Given the description of an element on the screen output the (x, y) to click on. 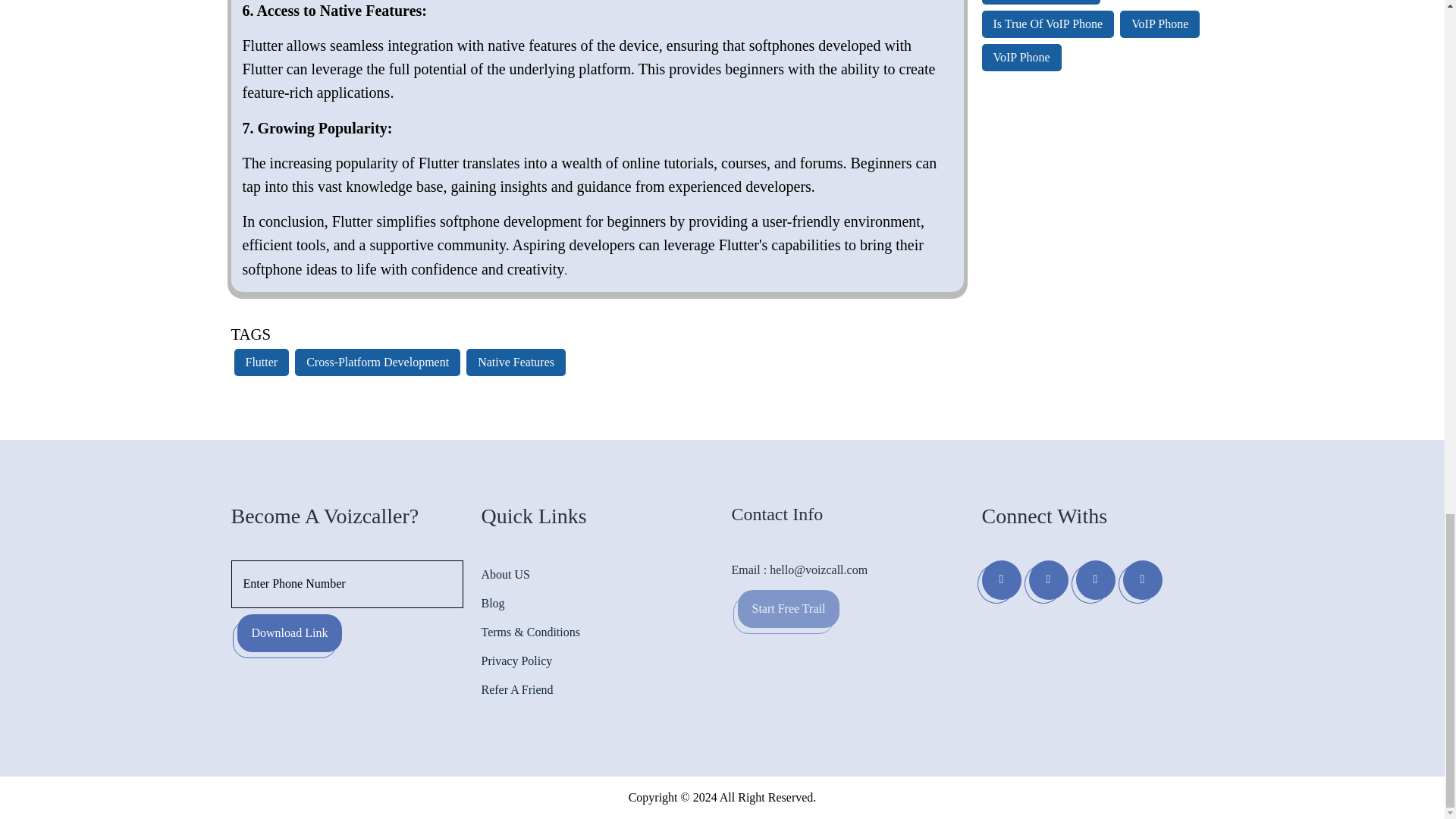
Flutter (262, 361)
Cross-Platform Development (376, 361)
Native Features (515, 361)
